Given the description of an element on the screen output the (x, y) to click on. 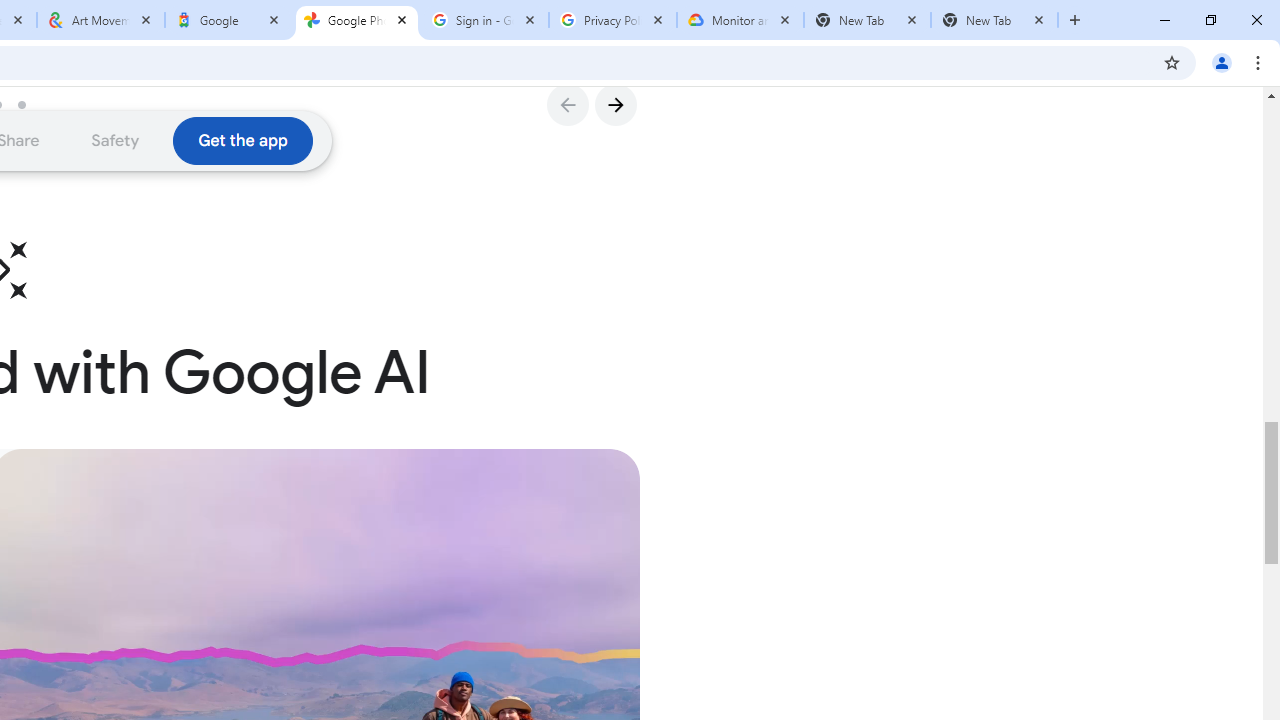
Go to Next Slide (615, 104)
Google (229, 20)
Go to section: Safety (115, 140)
Sign in - Google Accounts (485, 20)
New Tab (866, 20)
New Tab (994, 20)
Go to slide 3 (29, 104)
